Given the description of an element on the screen output the (x, y) to click on. 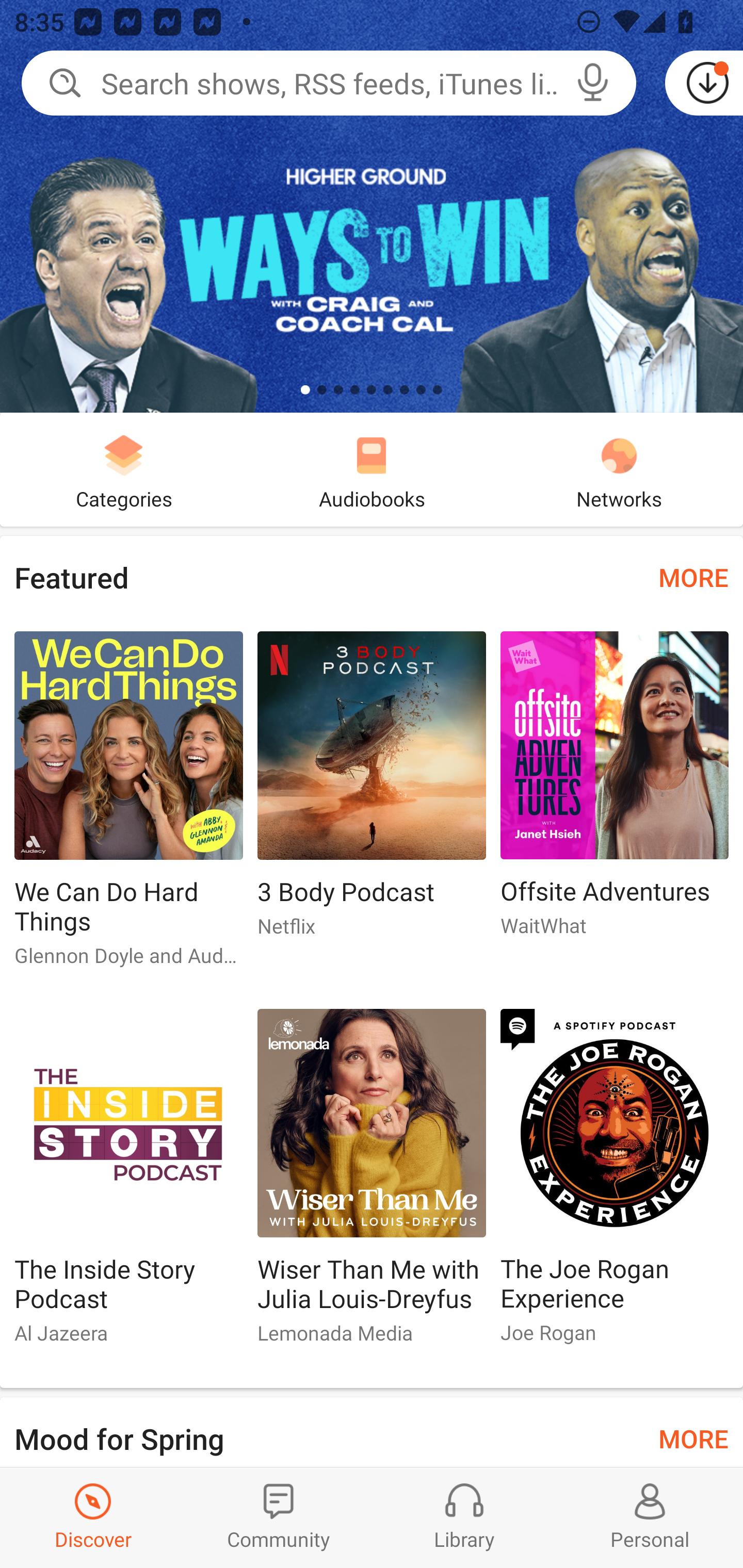
Ways To Win (371, 206)
Categories (123, 469)
Audiobooks (371, 469)
Networks (619, 469)
MORE (693, 576)
3 Body Podcast 3 Body Podcast Netflix (371, 792)
Offsite Adventures Offsite Adventures WaitWhat (614, 792)
MORE (693, 1436)
Discover (92, 1517)
Community (278, 1517)
Library (464, 1517)
Profiles and Settings Personal (650, 1517)
